Given the description of an element on the screen output the (x, y) to click on. 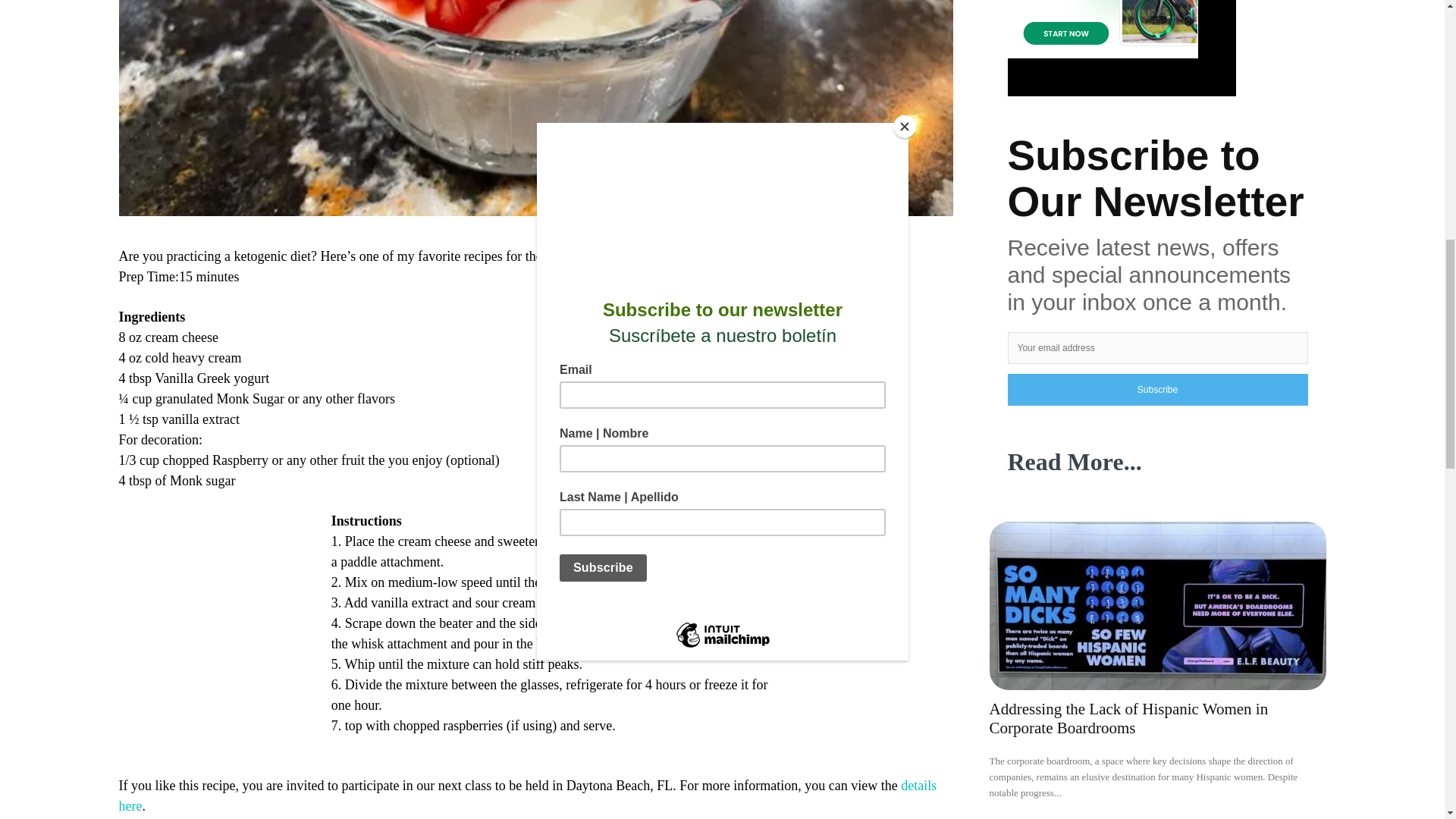
details here (526, 796)
Subscribe (1157, 389)
